Given the description of an element on the screen output the (x, y) to click on. 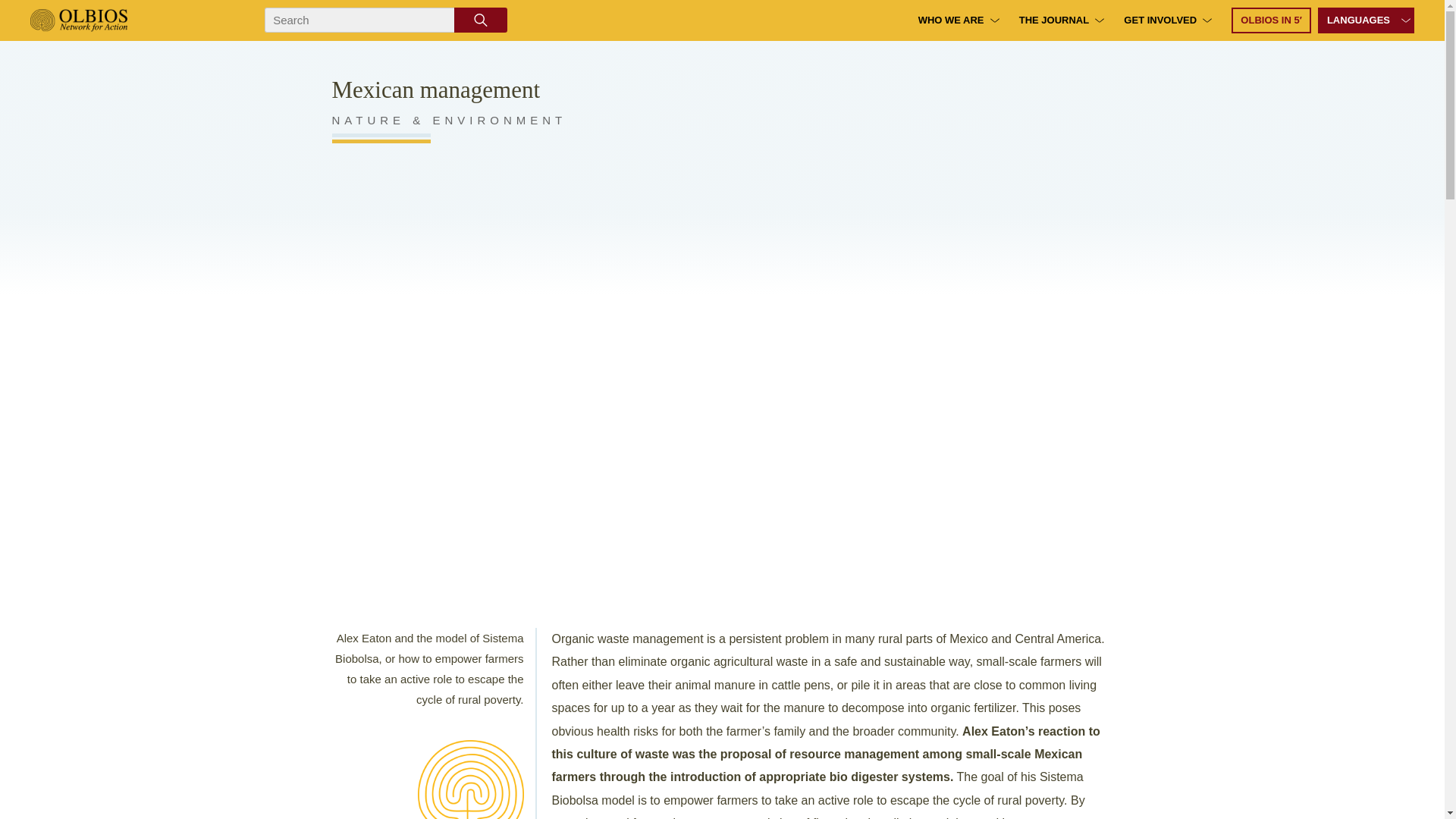
THE JOURNAL (1054, 20)
WHO WE ARE (951, 20)
